Given the description of an element on the screen output the (x, y) to click on. 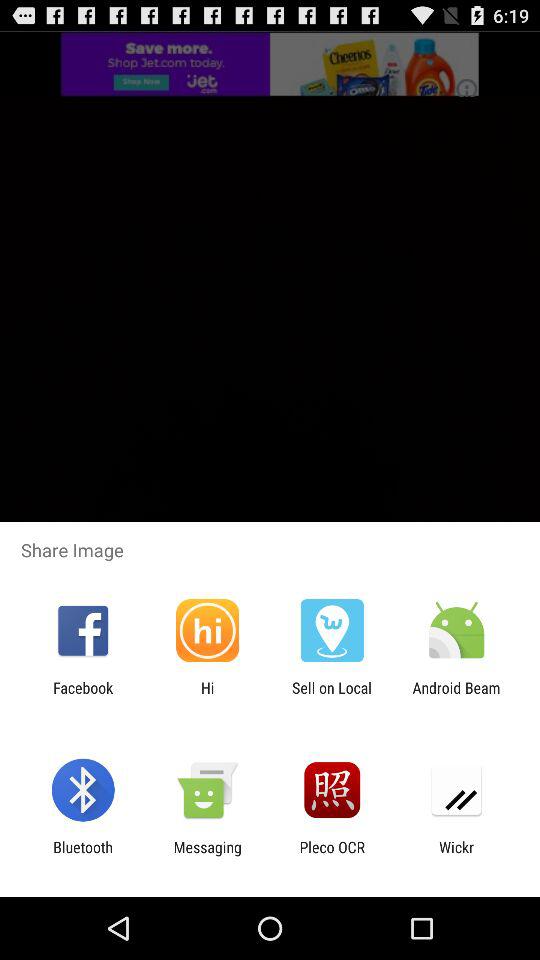
jump to messaging (207, 856)
